Given the description of an element on the screen output the (x, y) to click on. 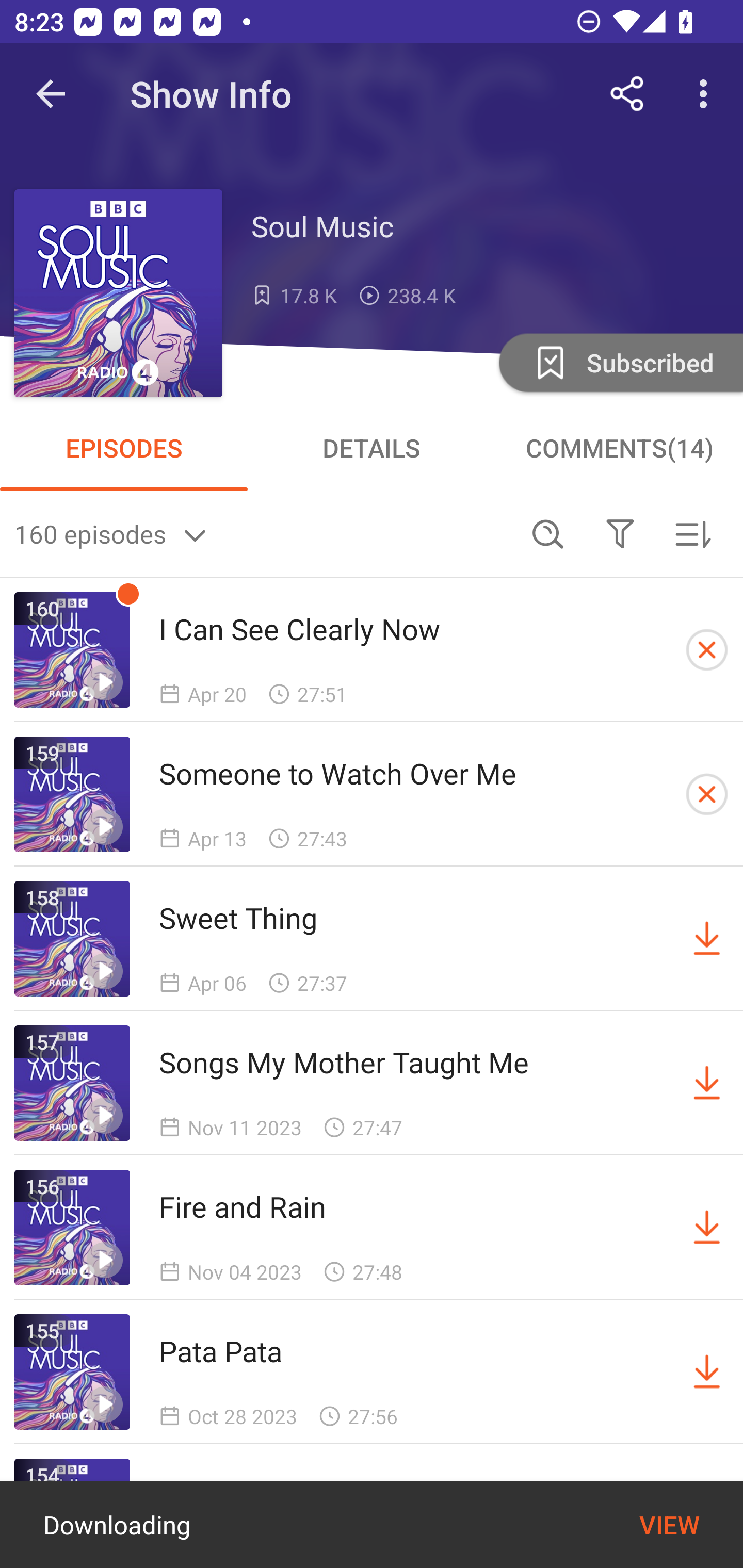
Navigate up (50, 93)
Share (626, 93)
More options (706, 93)
Unsubscribe Subscribed (619, 361)
EPISODES (123, 447)
DETAILS (371, 447)
COMMENTS(14) (619, 447)
160 episodes  (262, 533)
 Search (547, 533)
 (619, 533)
 Sorted by newest first (692, 533)
Cancel Downloading (706, 649)
Cancel Downloading (706, 793)
Download (706, 939)
Download (706, 1083)
Download (706, 1227)
Download (706, 1371)
Pause (654, 1525)
